Given the description of an element on the screen output the (x, y) to click on. 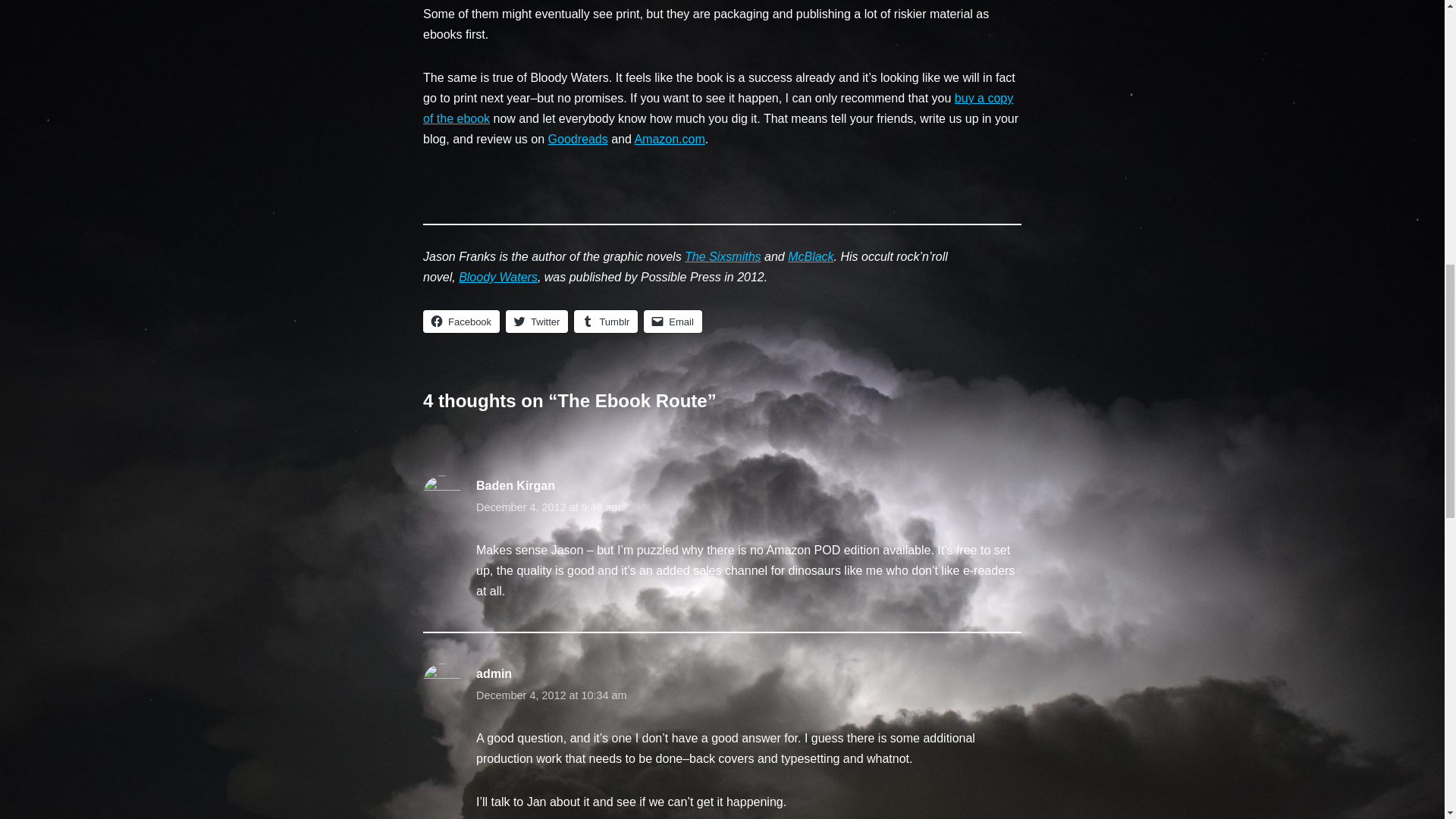
Click to share on Facebook (461, 321)
Click to email a link to a friend (672, 321)
Click to share on Twitter (536, 321)
Click to share on Tumblr (605, 321)
